Given the description of an element on the screen output the (x, y) to click on. 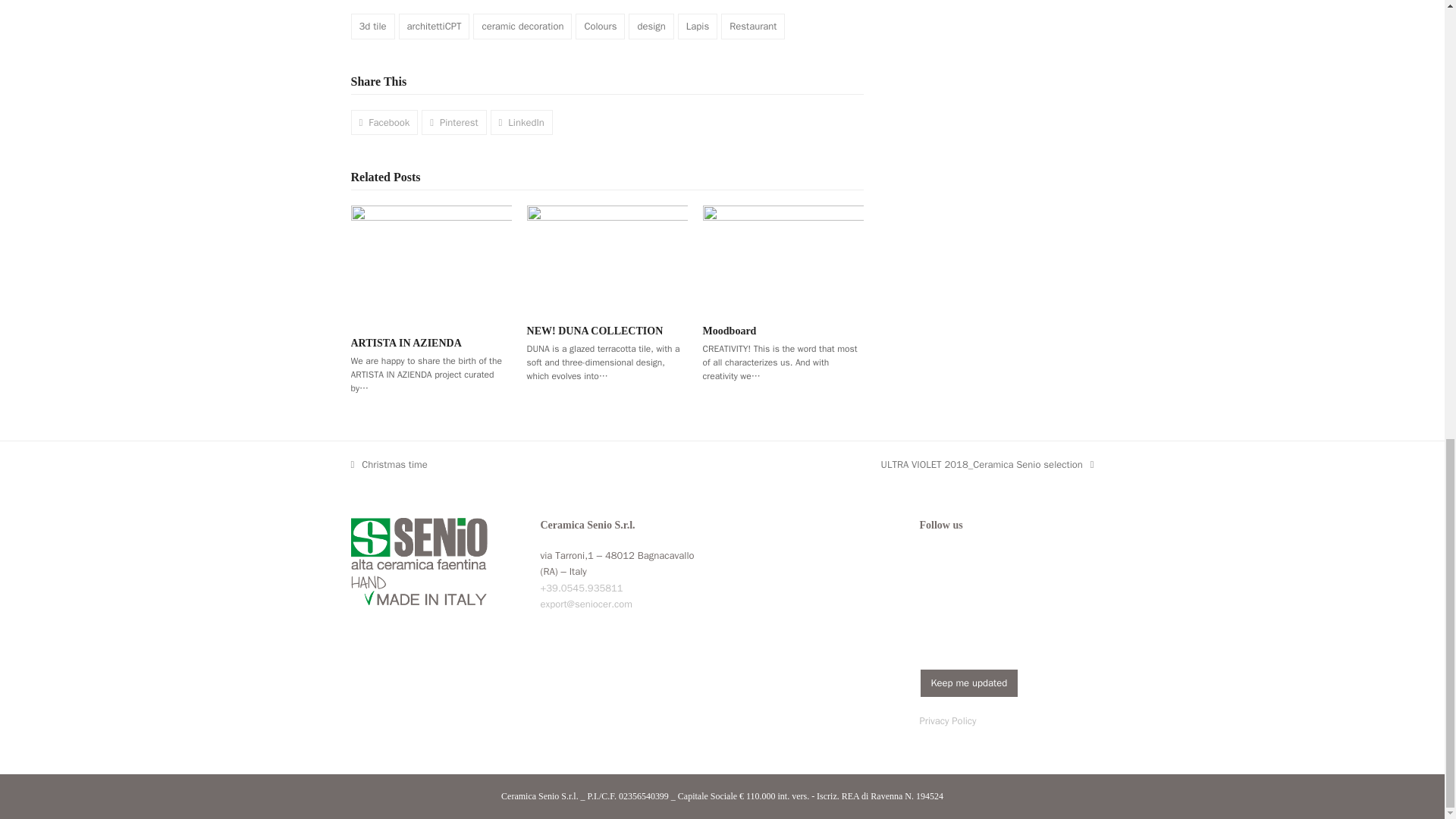
NEW! DUNA COLLECTION (607, 256)
ceramic decoration (522, 25)
Instagram (963, 591)
Tienimi aggiornato (967, 682)
Youtube (1059, 591)
3d tile (372, 25)
LinkedIn (995, 591)
Pinterest (1027, 591)
Google Map (816, 597)
Colours (599, 25)
Houzz (931, 621)
architettiCPT (434, 25)
ARTISTA IN AZIENDA (430, 263)
Facebook (931, 591)
Moodboard (783, 256)
